Given the description of an element on the screen output the (x, y) to click on. 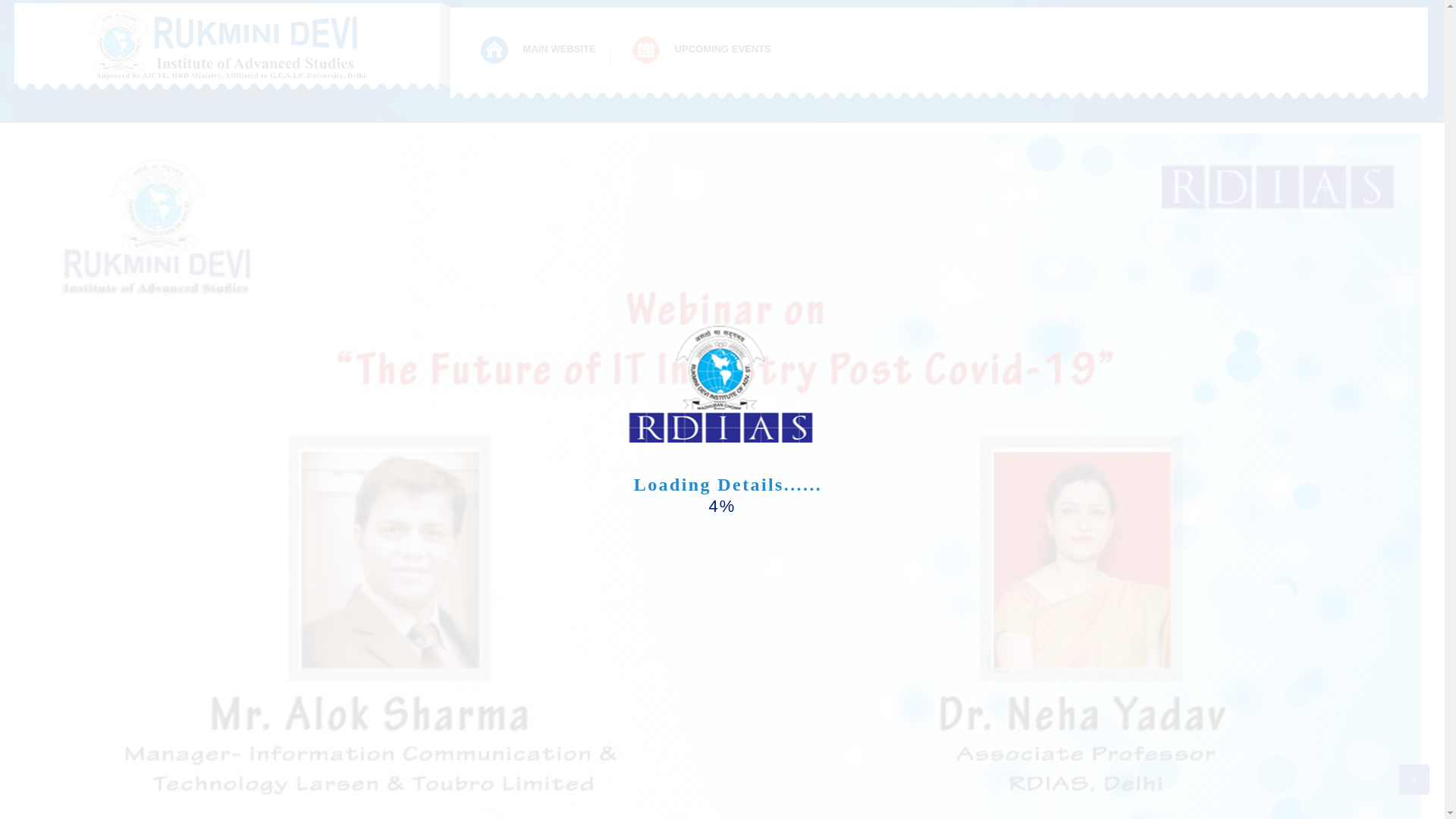
MAIN WEBSITE (539, 50)
UPCOMING EVENTS (703, 50)
